Given the description of an element on the screen output the (x, y) to click on. 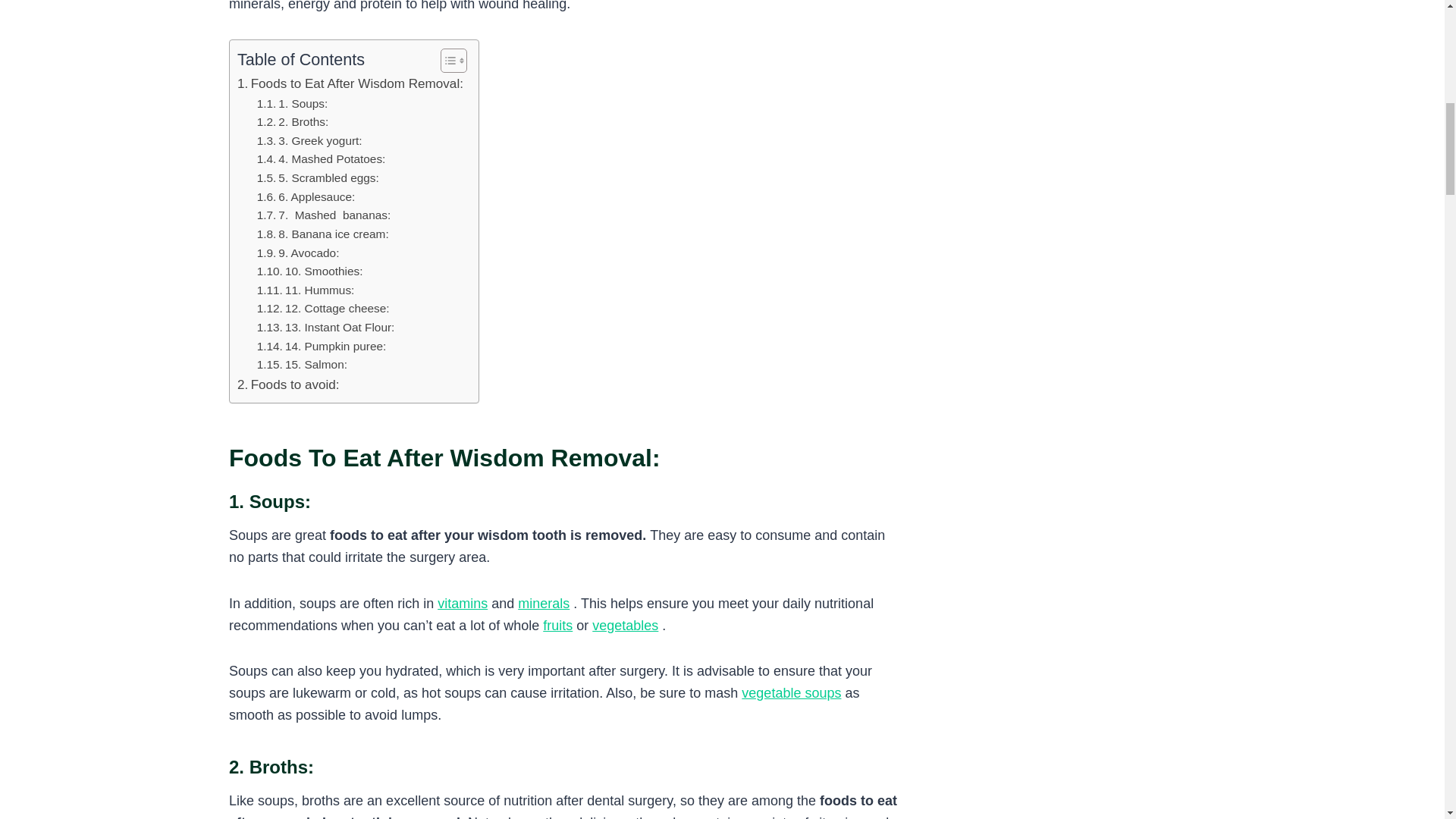
12. Cottage cheese: (323, 308)
2. Broths: (293, 122)
11. Hummus: (306, 290)
5. Scrambled eggs: (317, 178)
8. Banana ice cream: (322, 234)
4. Mashed Potatoes: (321, 158)
3. Greek yogurt: (309, 140)
9. Avocado: (298, 253)
1. Soups: (293, 104)
